Given the description of an element on the screen output the (x, y) to click on. 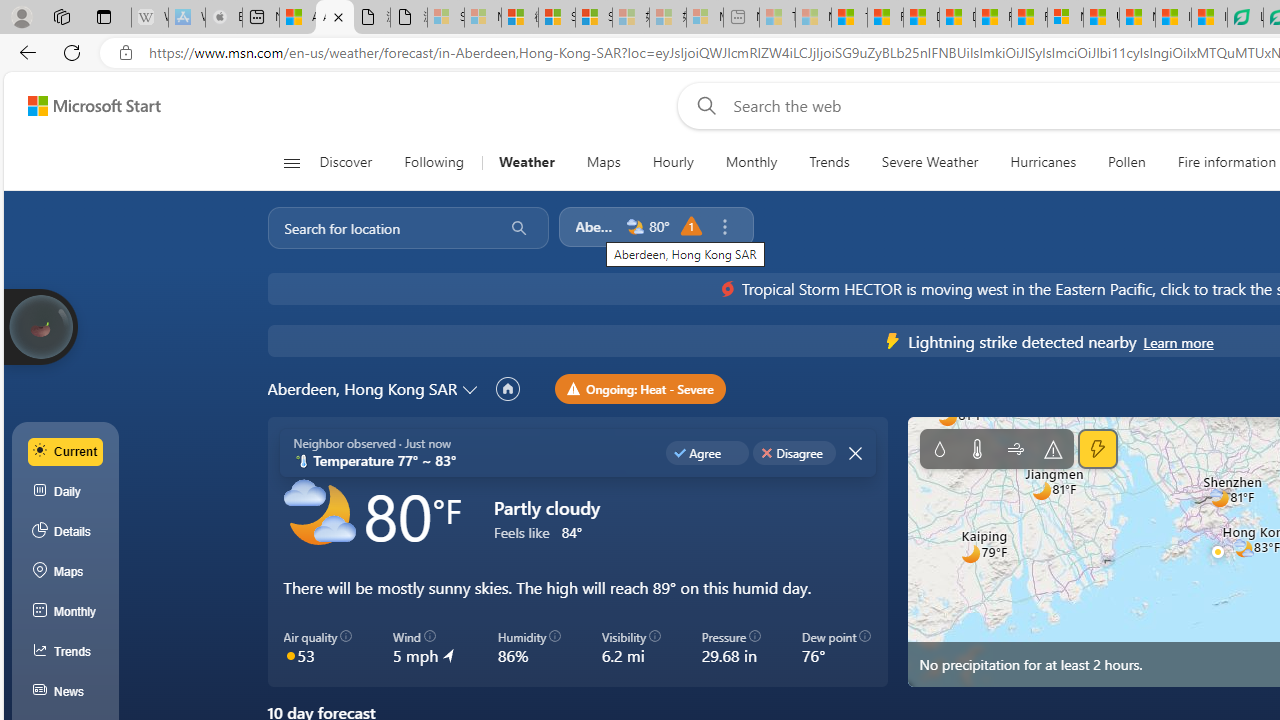
Details (65, 531)
Hurricanes (1043, 162)
Wikipedia - Sleeping (149, 17)
Monthly (65, 611)
Fire information (1227, 162)
Severe weather (1053, 449)
Microsoft Services Agreement - Sleeping (482, 17)
Humidity 86% (528, 647)
Maps (65, 572)
Agree (706, 452)
Sign in to your Microsoft account - Sleeping (445, 17)
Remove location (724, 227)
Pressure 29.68 in (731, 647)
Daily (65, 492)
